Given the description of an element on the screen output the (x, y) to click on. 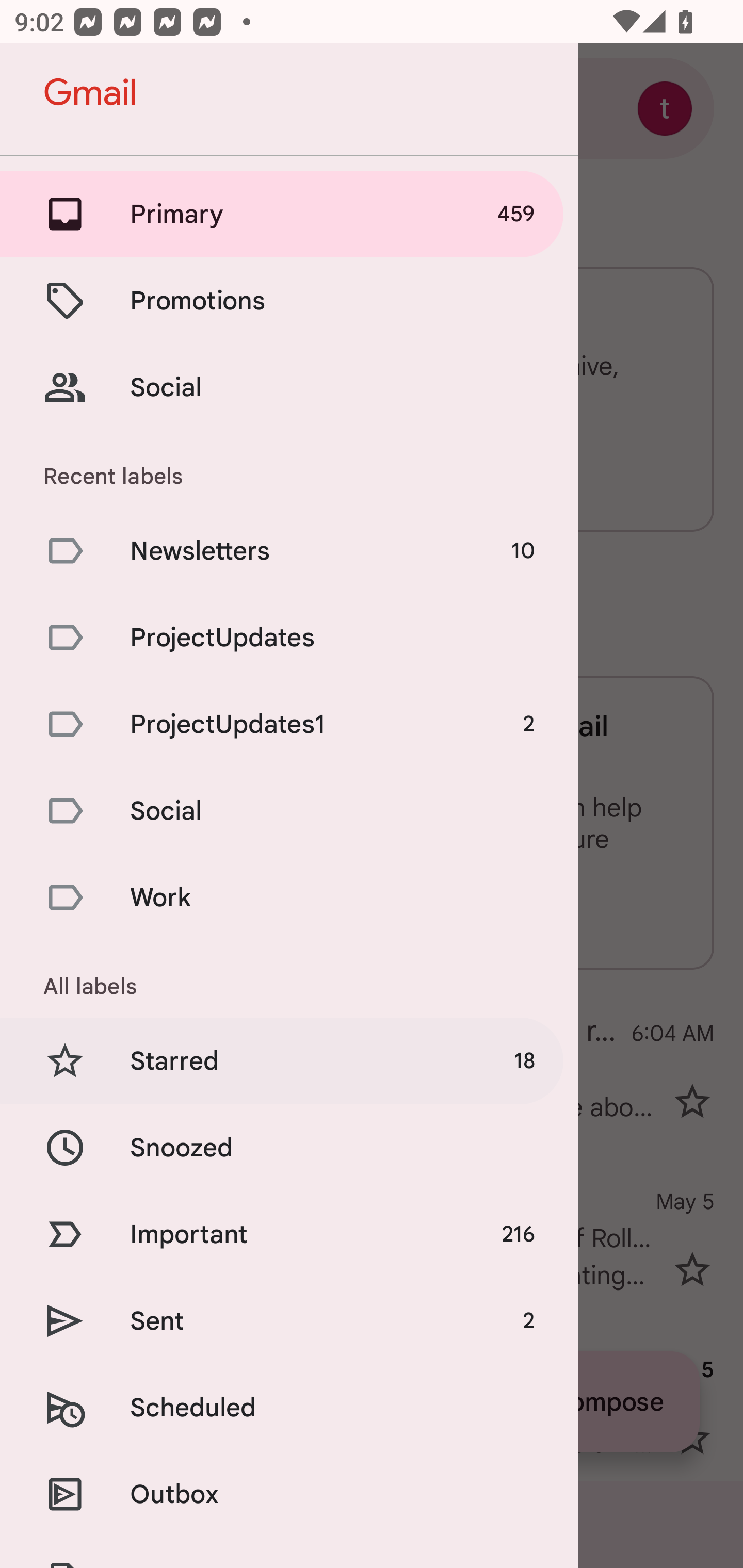
Primary 459 (289, 213)
Promotions (289, 300)
Social (289, 387)
Newsletters 10 (289, 551)
ProjectUpdates (289, 637)
ProjectUpdates1 2 (289, 723)
Social (289, 810)
Work (289, 897)
Starred 18 (289, 1060)
Snoozed (289, 1147)
Important 216 (289, 1234)
Sent 2 (289, 1320)
Scheduled (289, 1407)
Outbox (289, 1494)
